Given the description of an element on the screen output the (x, y) to click on. 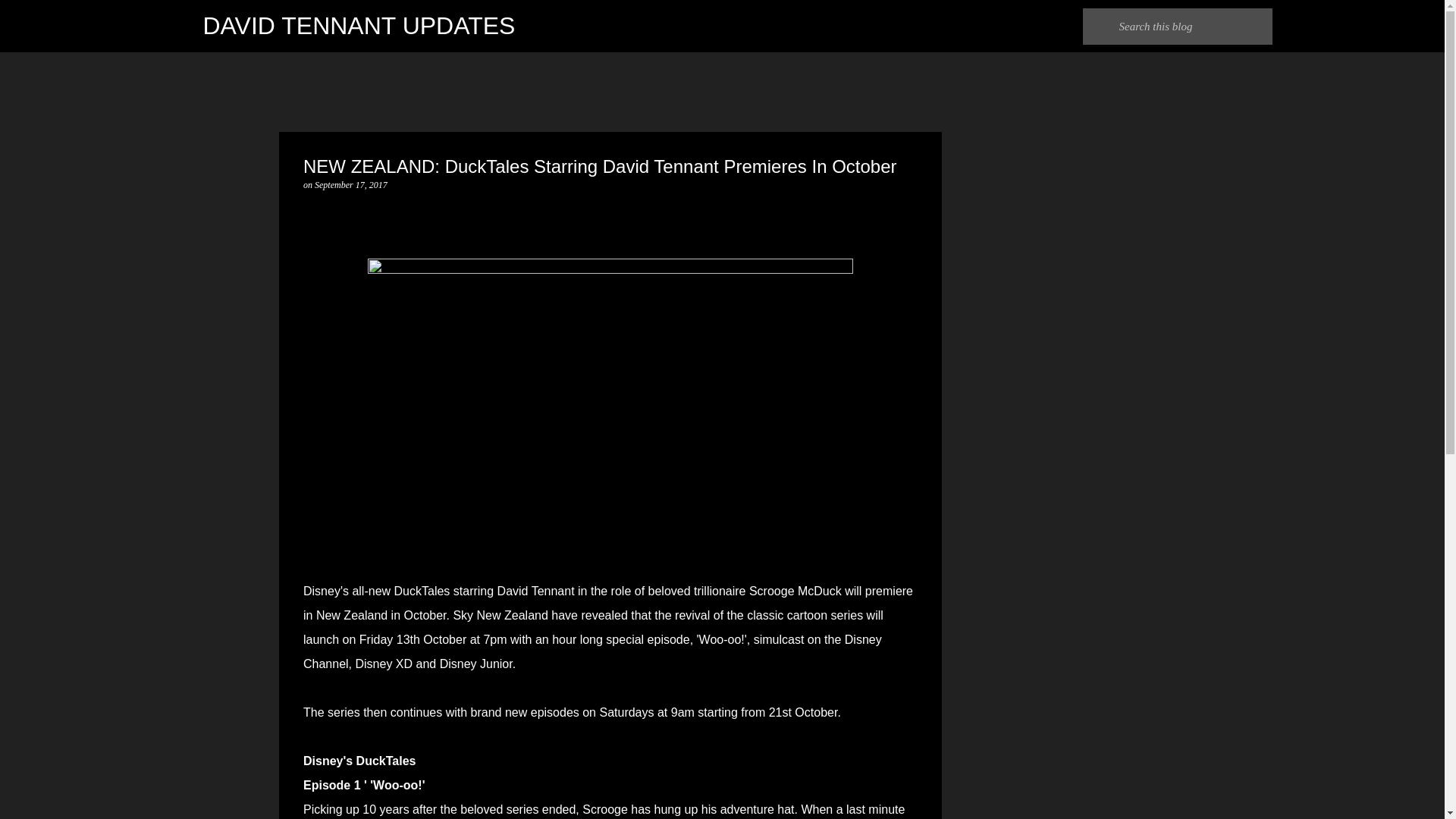
permanent link (350, 184)
DAVID TENNANT UPDATES (359, 25)
September 17, 2017 (350, 184)
